Given the description of an element on the screen output the (x, y) to click on. 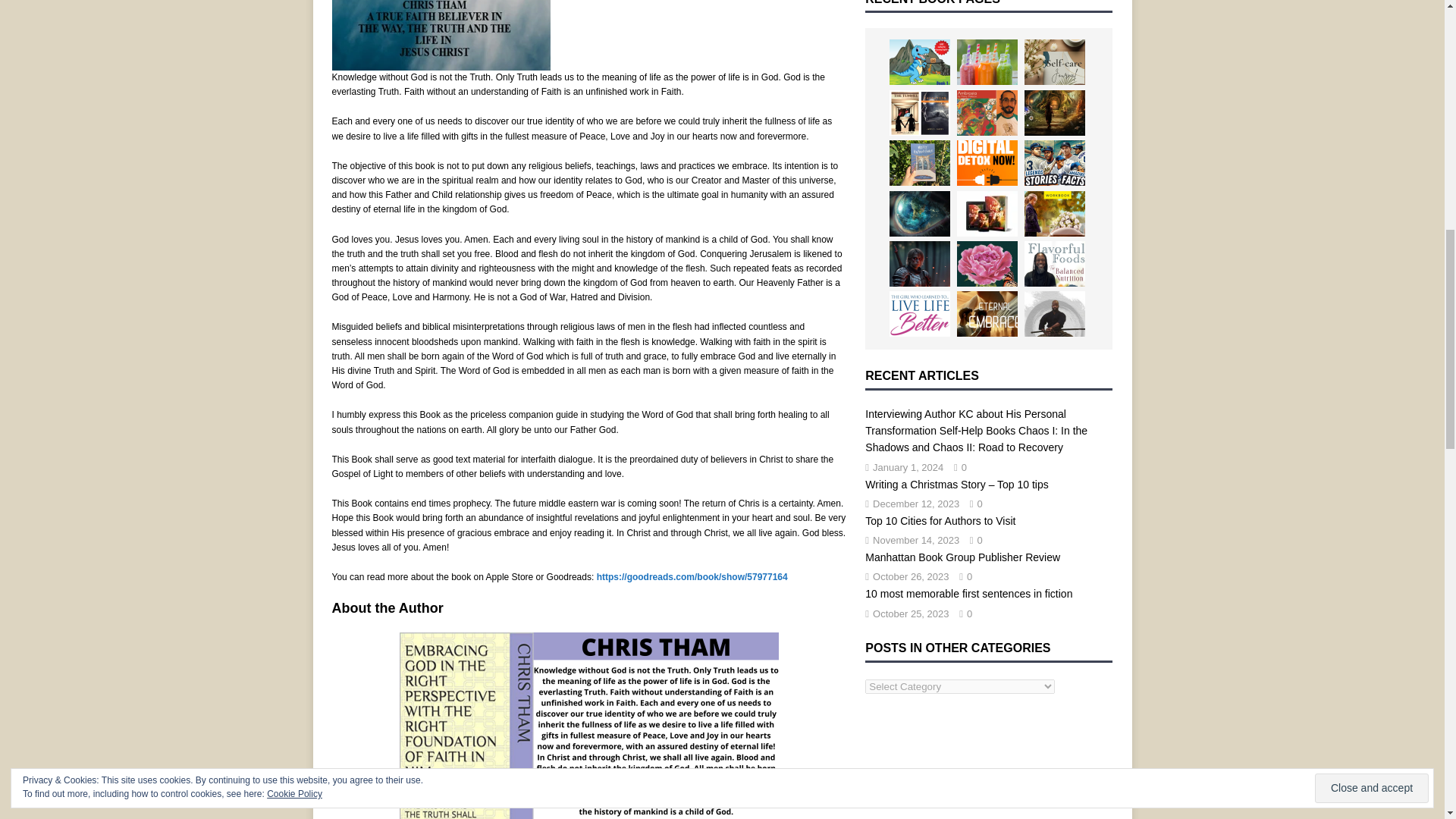
Dusty Goes to the Zoo! (919, 62)
Rediscover You (1054, 62)
